Given the description of an element on the screen output the (x, y) to click on. 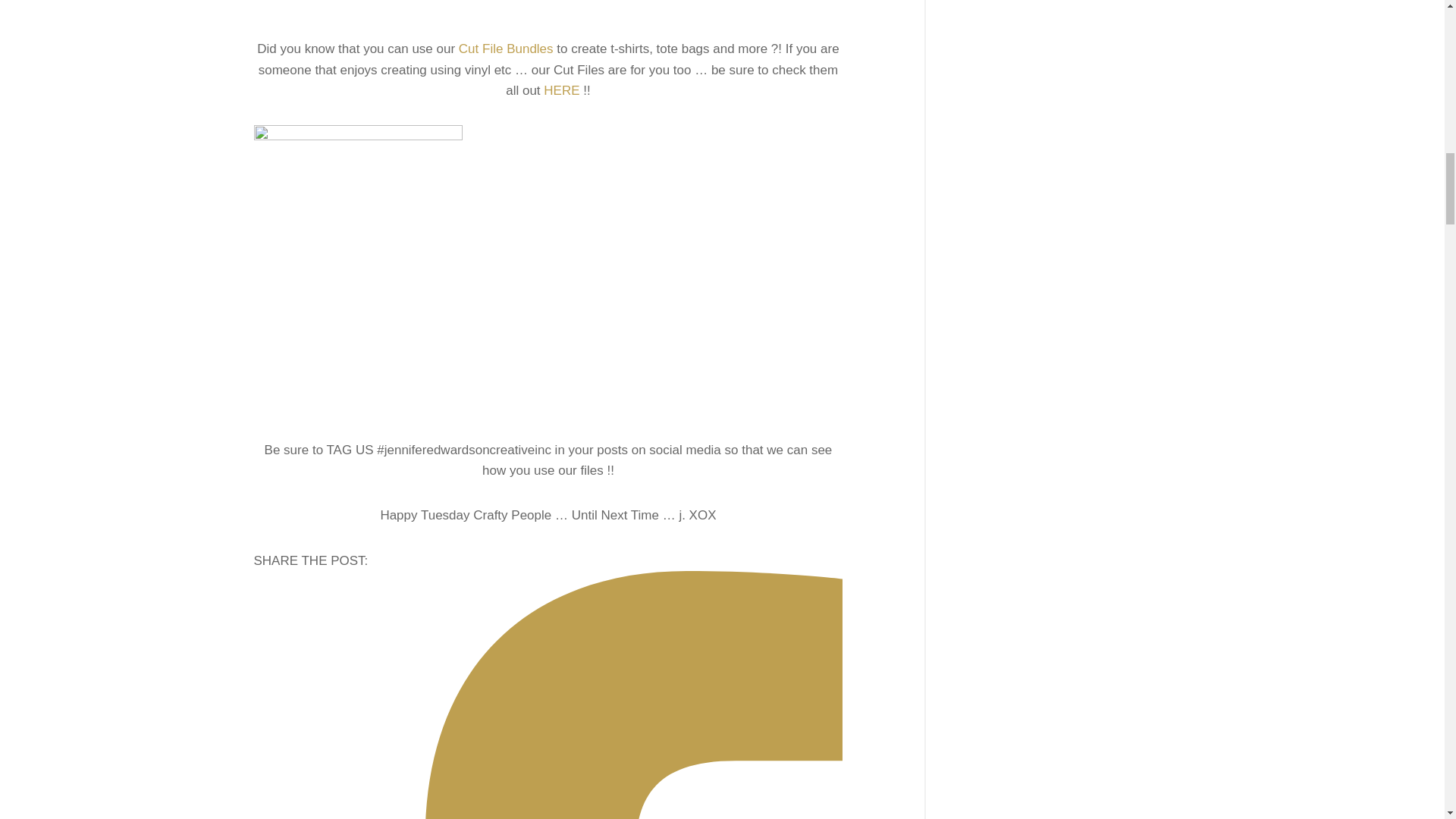
HERE (561, 90)
Cut File Bundles (505, 48)
